Given the description of an element on the screen output the (x, y) to click on. 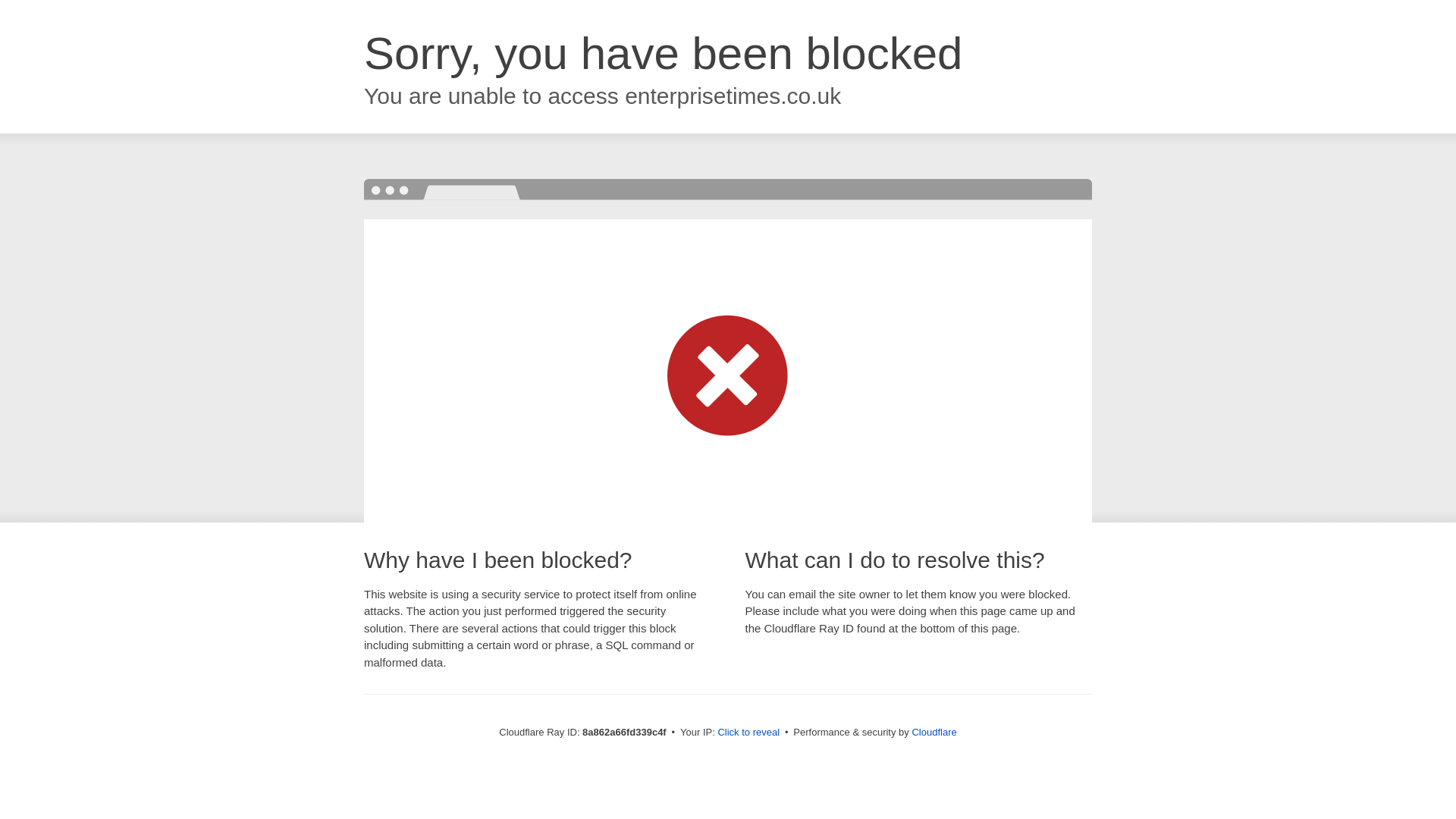
Cloudflare (933, 731)
Click to reveal (747, 732)
